Given the description of an element on the screen output the (x, y) to click on. 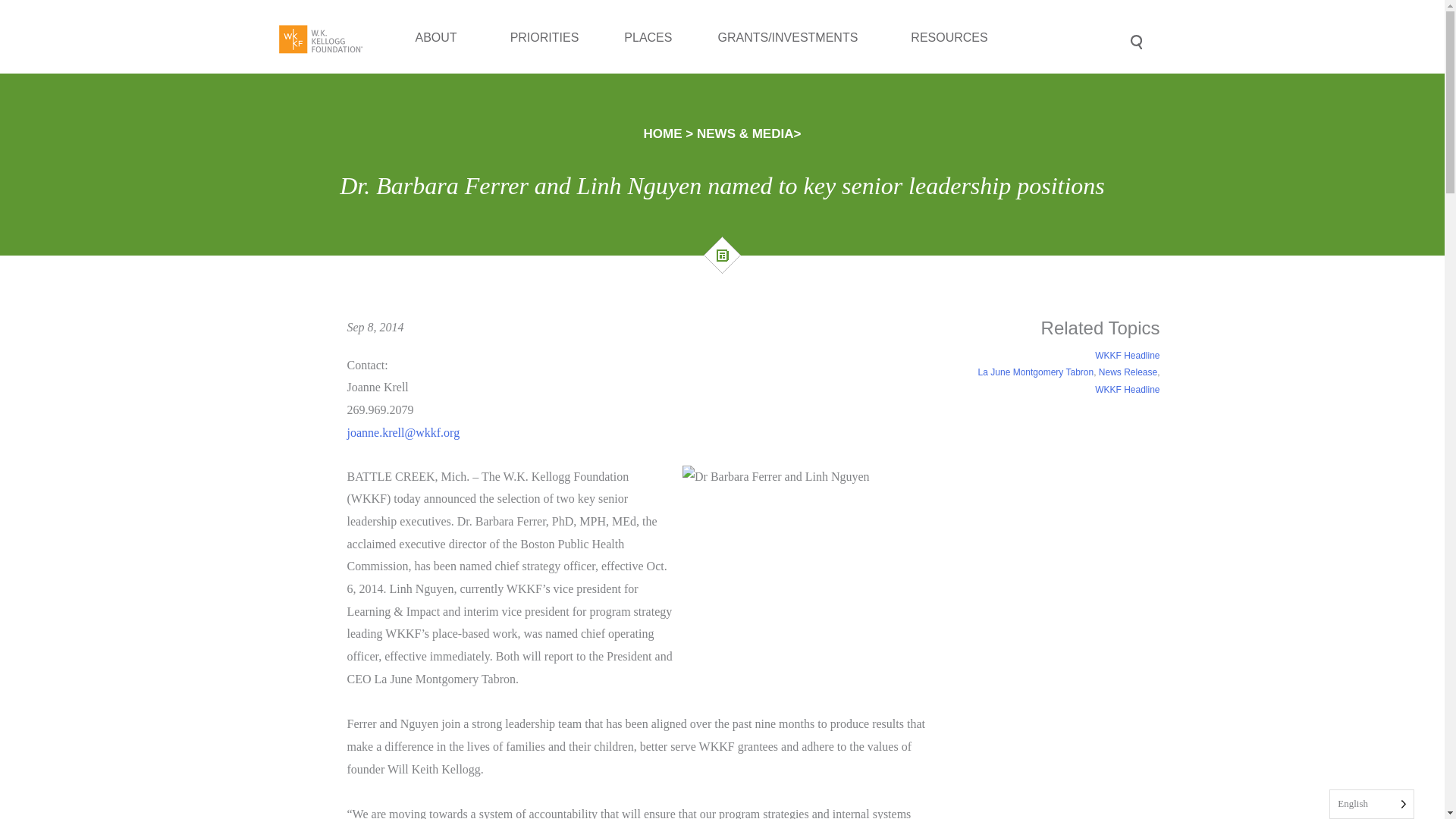
PRIORITIES (544, 76)
RESOURCES (952, 46)
PLACES (647, 70)
ABOUT (440, 94)
